Given the description of an element on the screen output the (x, y) to click on. 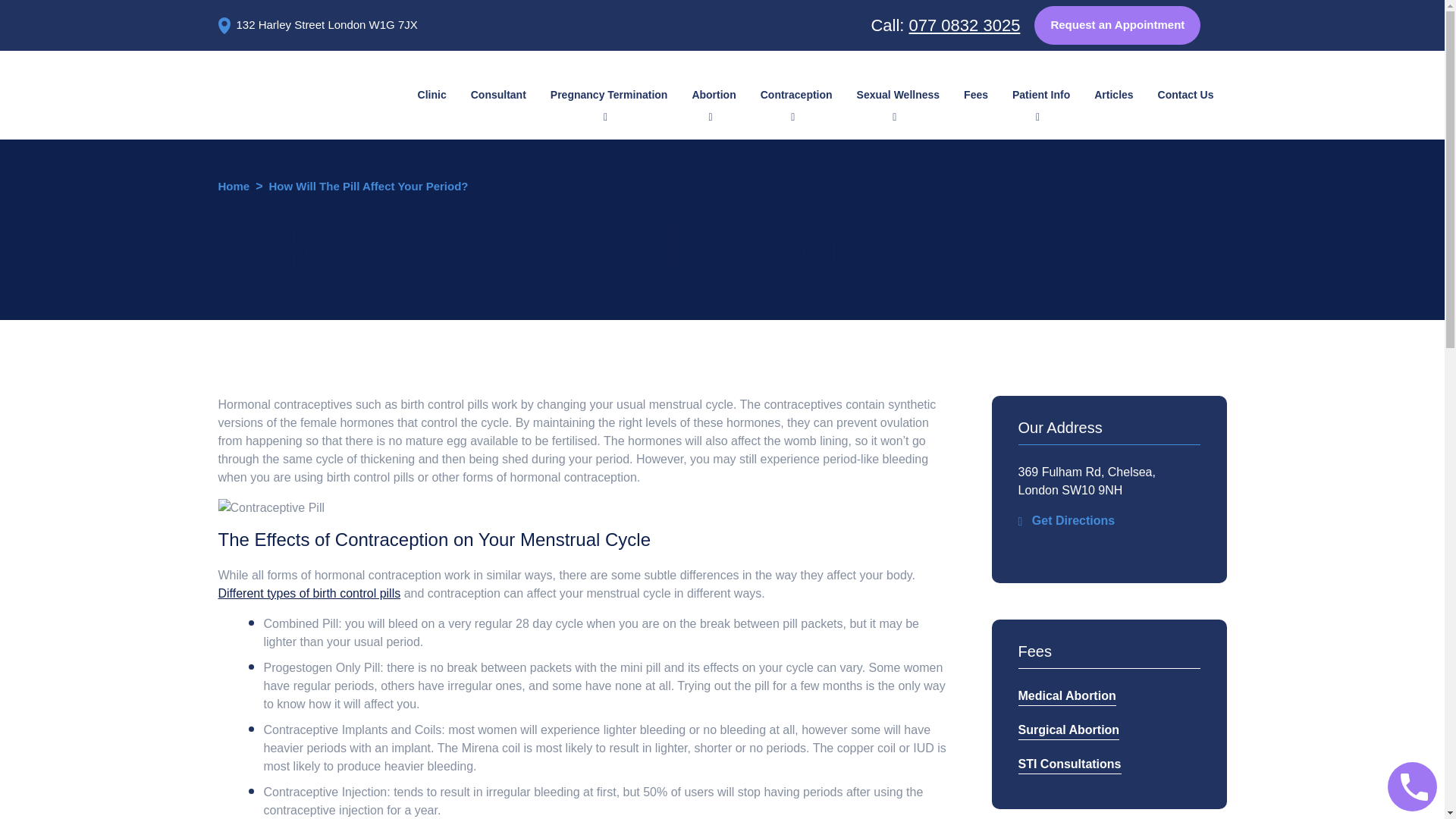
Pregnancy Termination (608, 94)
Request an Appointment (1116, 25)
077 0832 3025 (964, 25)
Abortion (713, 94)
Sexual Wellness (898, 94)
Consultant (498, 94)
Fees (976, 94)
Clinic (432, 94)
Patient Info (1040, 94)
Articles (1112, 94)
